Given the description of an element on the screen output the (x, y) to click on. 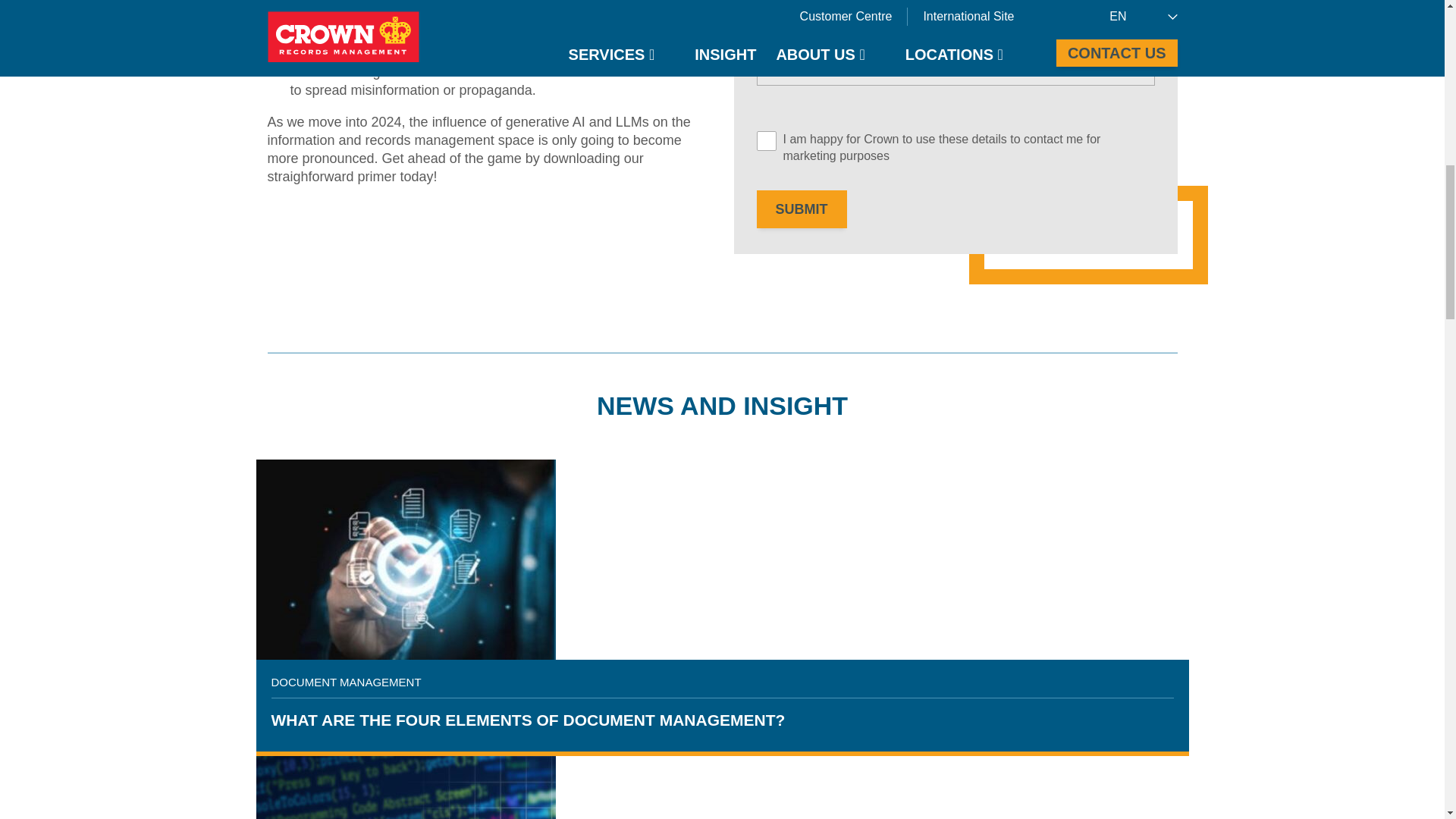
Submit (802, 209)
